Given the description of an element on the screen output the (x, y) to click on. 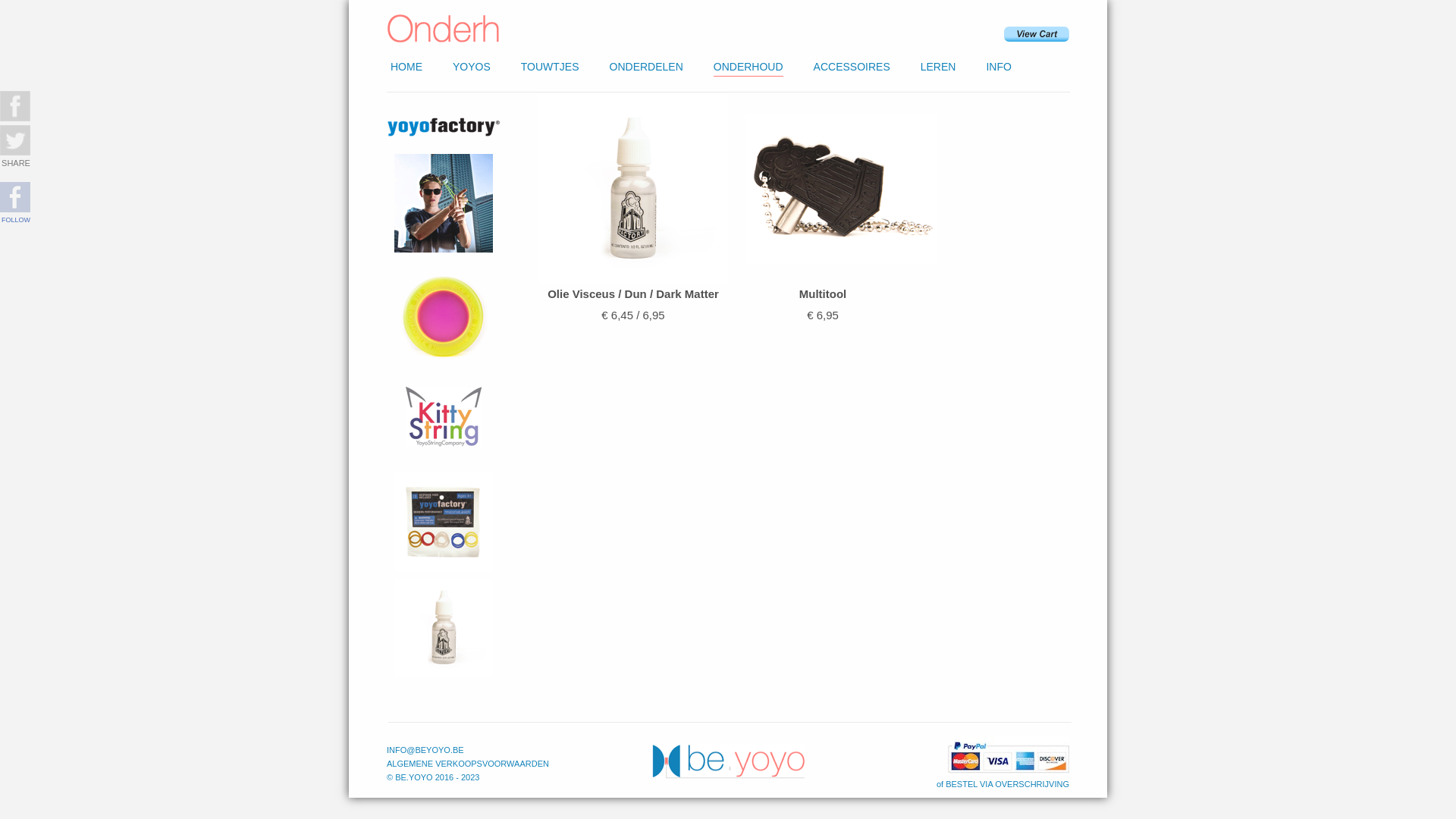
ACCESSOIRES Element type: text (851, 66)
ONDERDELEN Element type: text (646, 66)
ALGEMENE VERKOOPSVOORWAARDEN Element type: text (467, 763)
INFO Element type: text (998, 66)
ONDERHOUD Element type: text (748, 66)
YOYOS Element type: text (471, 66)
LEREN Element type: text (938, 66)
TOUWTJES Element type: text (550, 66)
INFO@BEYOYO.BE Element type: text (425, 749)
HOME Element type: text (406, 66)
of BESTEL VIA OVERSCHRIJVING Element type: text (1002, 783)
